Given the description of an element on the screen output the (x, y) to click on. 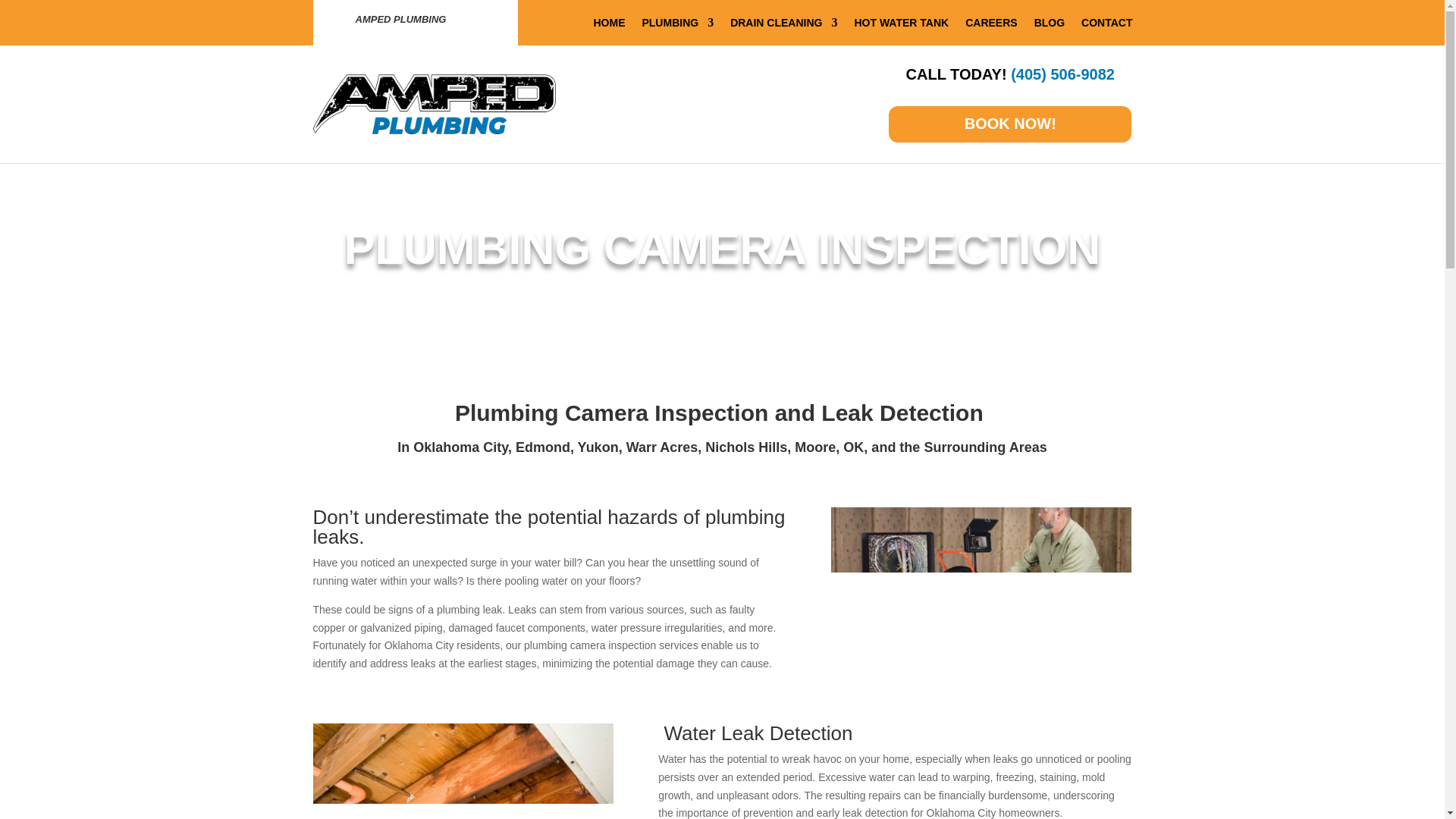
amped-plumbing-logo (433, 104)
DRAIN CLEANING (783, 25)
PLUMBING (677, 25)
water-leak-detection-oklahoma-city-yukon-moore-edmond-ok (462, 771)
CONTACT (1106, 25)
HOT WATER TANK (901, 25)
HOME (608, 25)
BLOG (1048, 25)
CAREERS (990, 25)
